Given the description of an element on the screen output the (x, y) to click on. 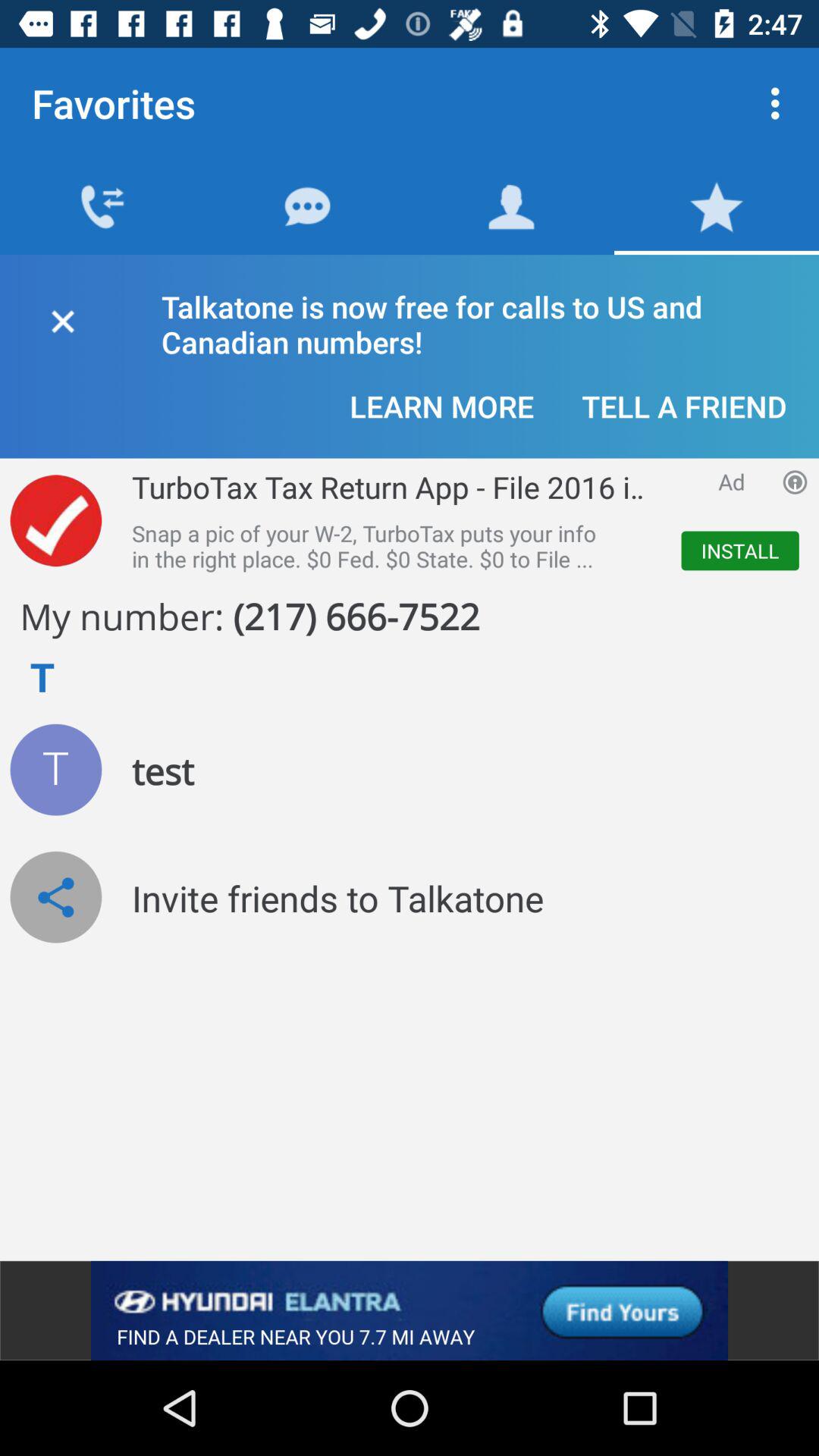
advertisement (409, 1310)
